Given the description of an element on the screen output the (x, y) to click on. 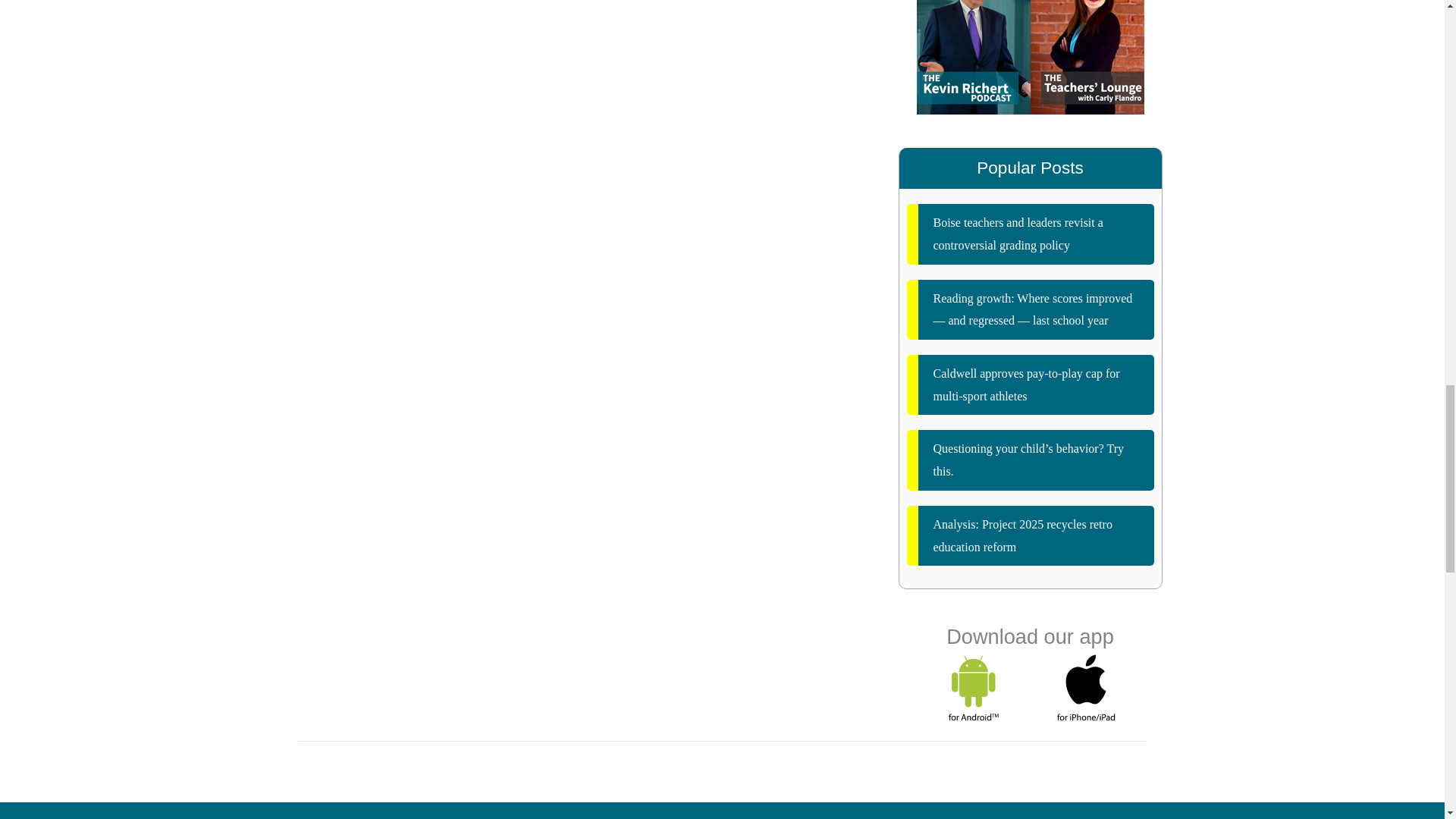
Analysis: Project 2025 recycles retro education reform (1030, 535)
Caldwell approves pay-to-play cap for multi-sport athletes (1030, 384)
